Given the description of an element on the screen output the (x, y) to click on. 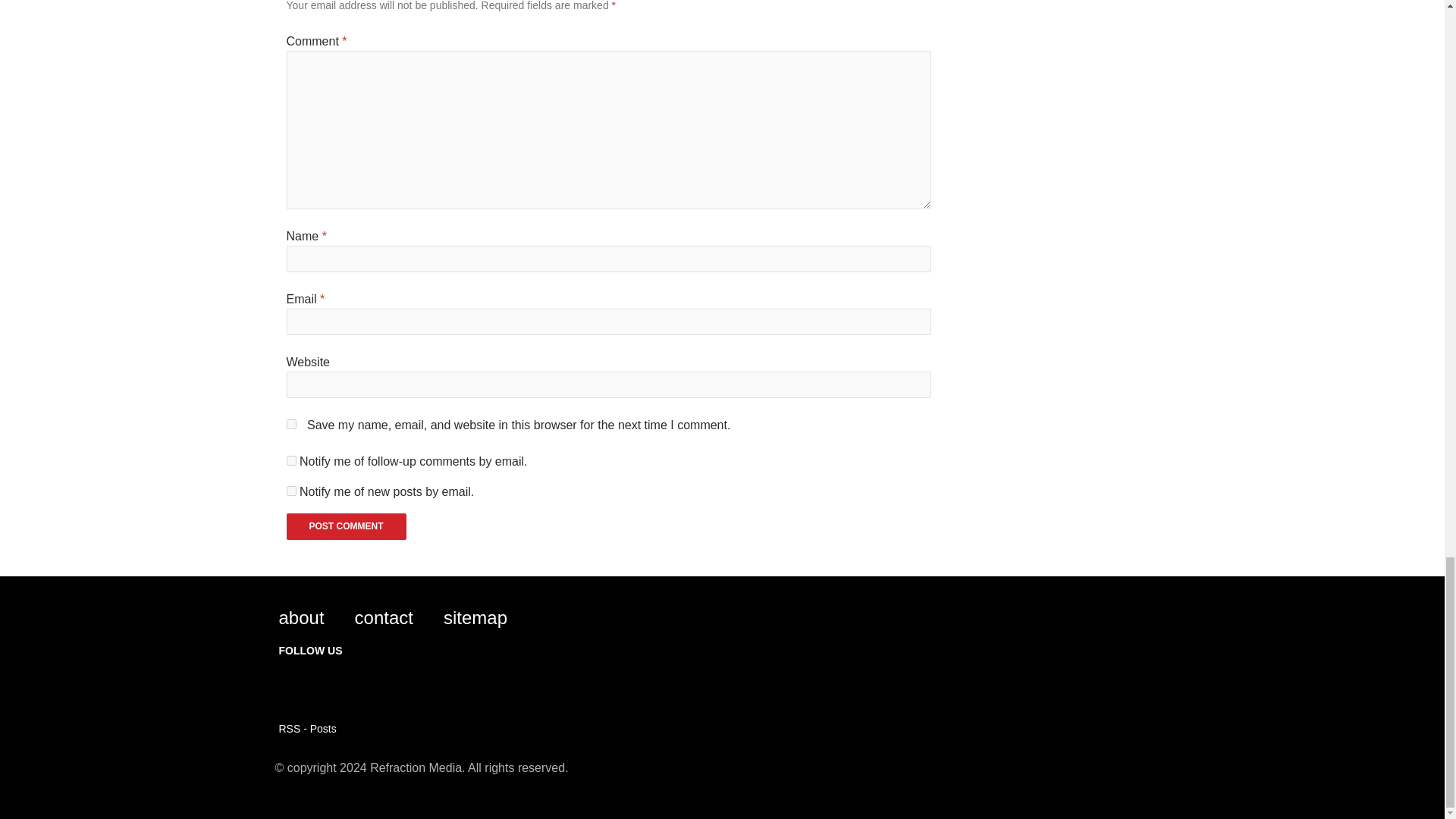
yes (291, 424)
subscribe (291, 491)
Subscribe to posts (307, 728)
Post Comment (346, 526)
Post Comment (346, 526)
subscribe (291, 460)
